Given the description of an element on the screen output the (x, y) to click on. 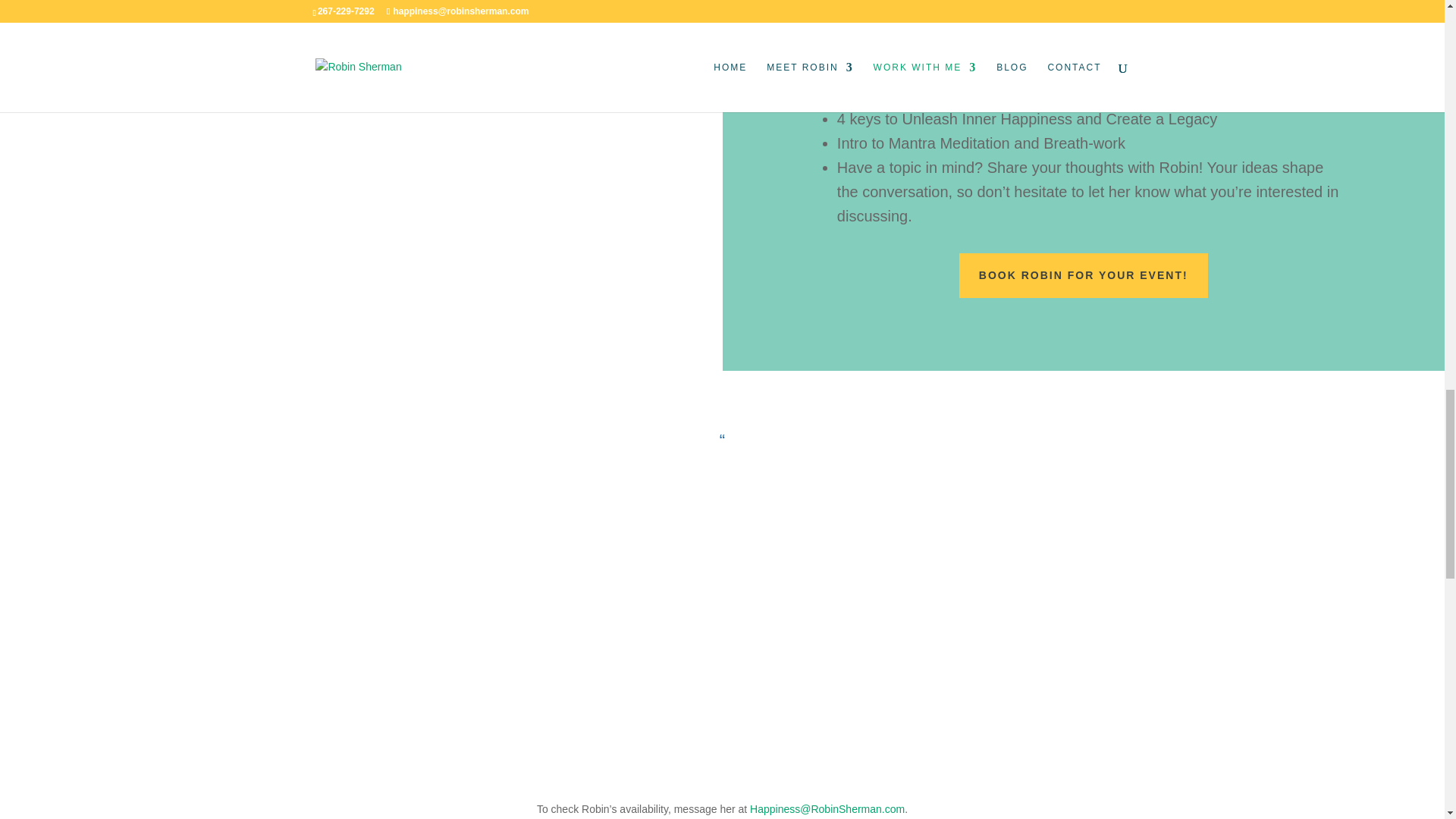
BOOK ROBIN FOR YOUR EVENT! (1083, 275)
READ MORE TESTIMONIALS (722, 697)
